Given the description of an element on the screen output the (x, y) to click on. 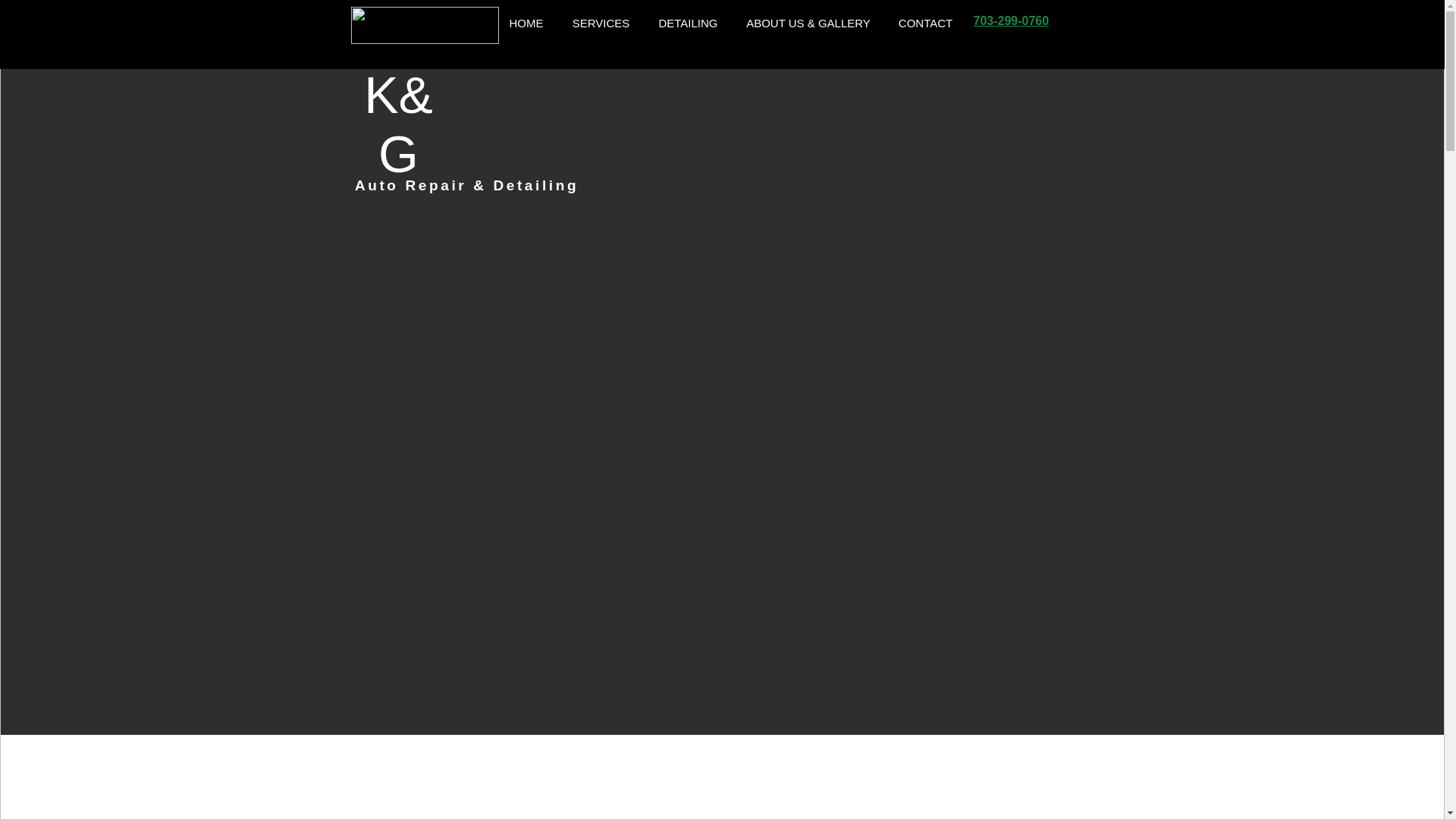
CONTACT (924, 23)
703-299-0760 (1011, 20)
SERVICES (601, 23)
HOME (526, 23)
DETAILING (688, 23)
